Given the description of an element on the screen output the (x, y) to click on. 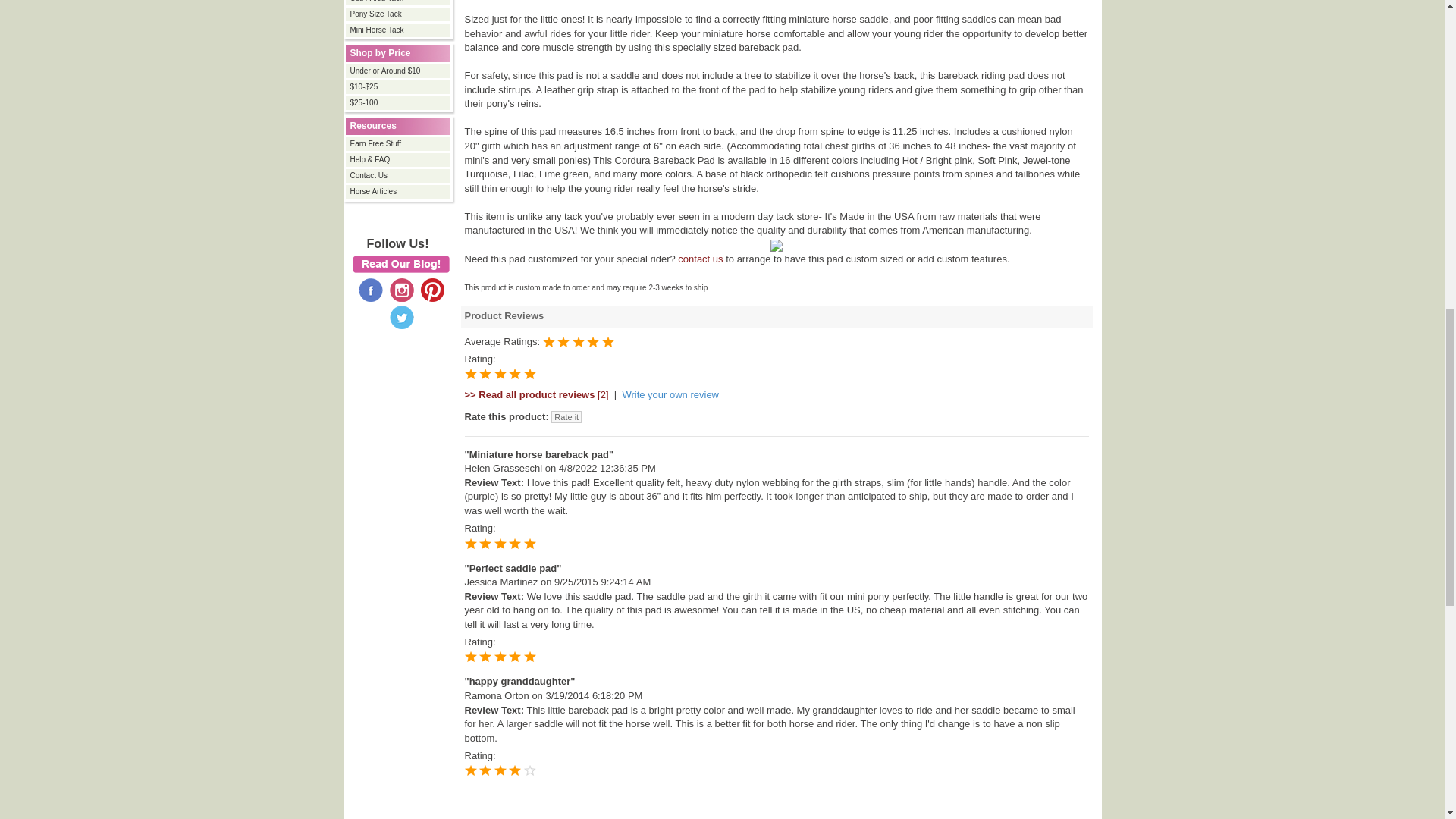
Follow us on Twitter! (401, 316)
Like us on Facebook! (370, 288)
Follow us on Instagram! (401, 288)
Rate it (565, 417)
Visit our Pinterest page! (432, 288)
Visit our Blog! (400, 264)
